Given the description of an element on the screen output the (x, y) to click on. 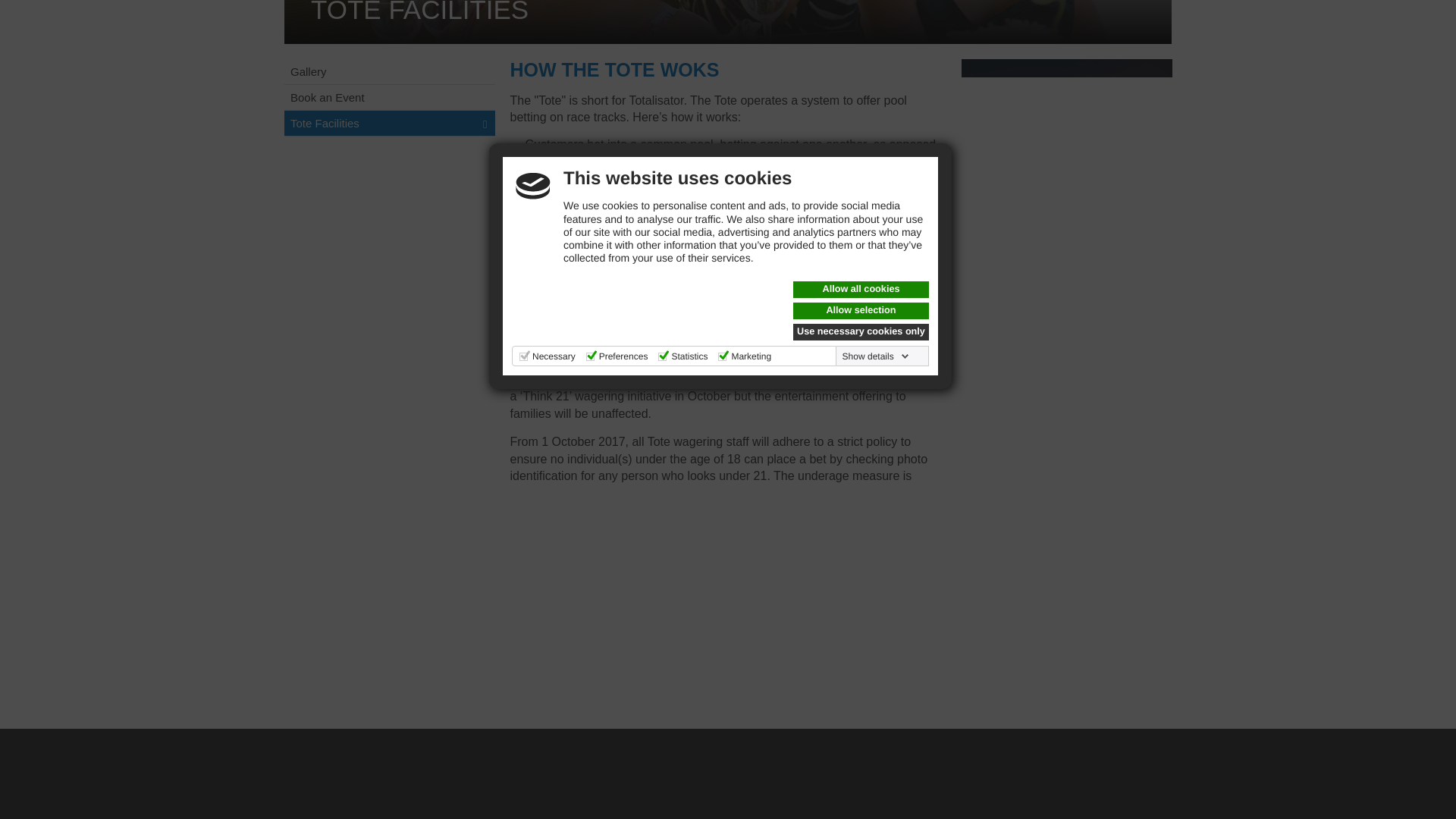
Show details (876, 21)
Use necessary cookies only (860, 2)
